Given the description of an element on the screen output the (x, y) to click on. 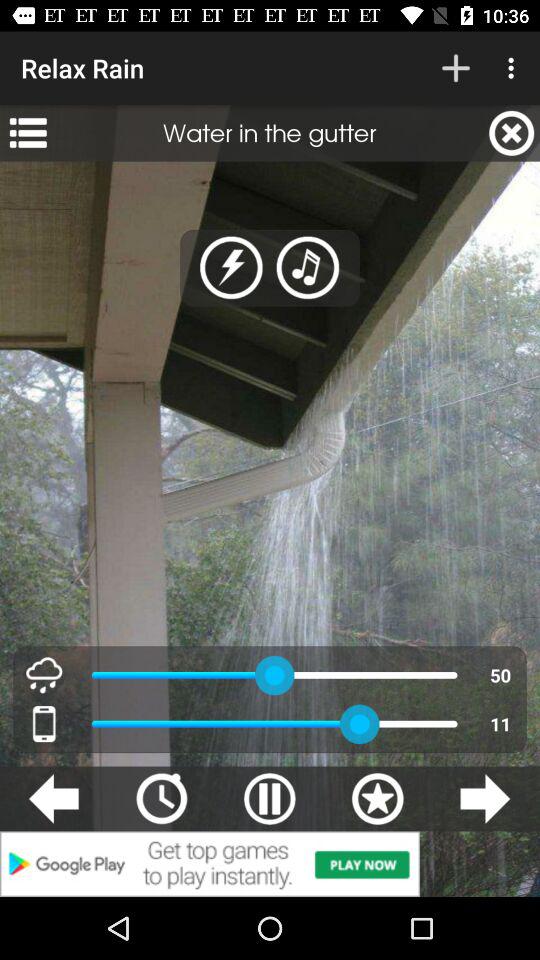
select icon to the right of the relax rain item (455, 67)
